Given the description of an element on the screen output the (x, y) to click on. 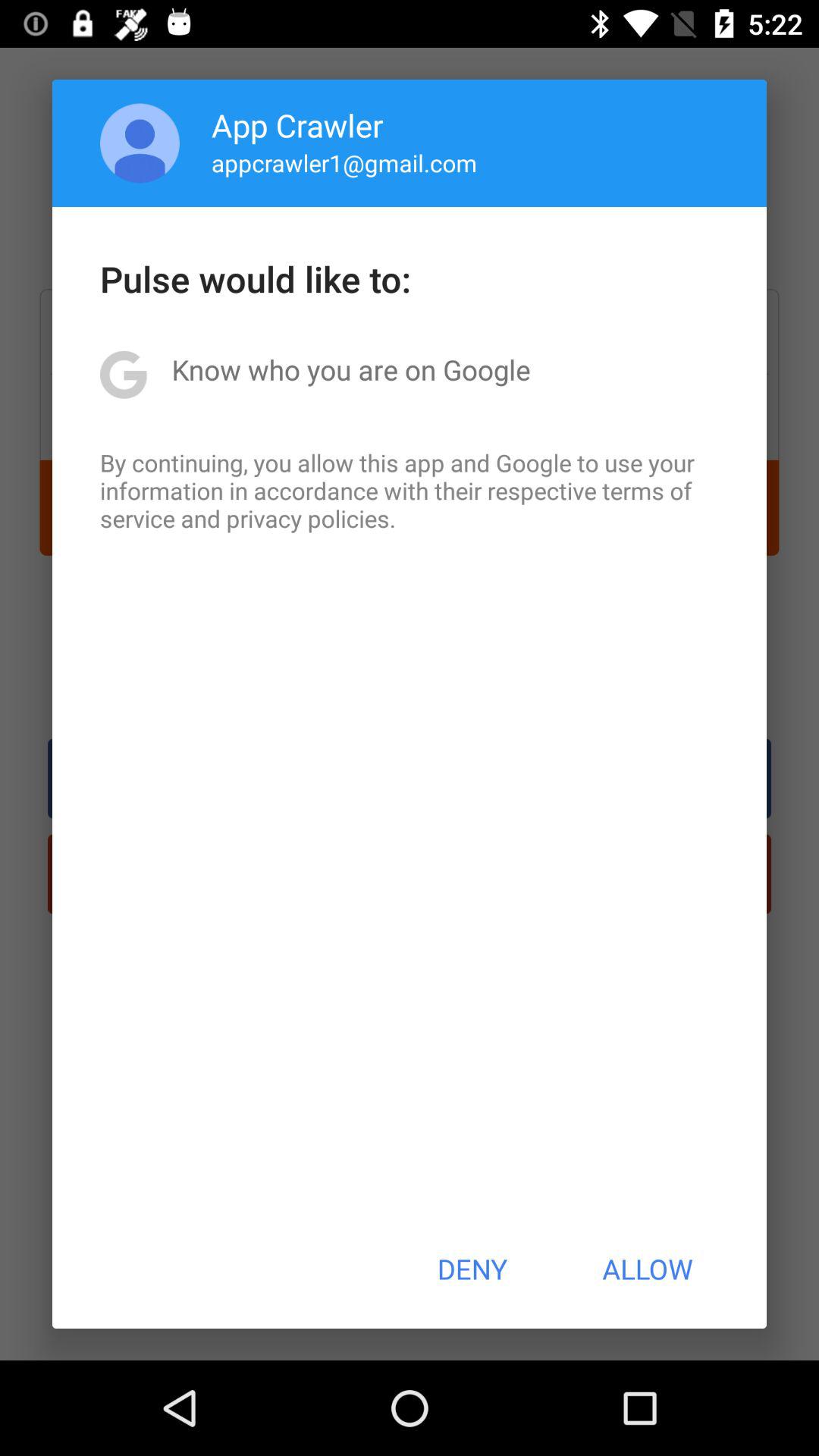
choose icon above the appcrawler1@gmail.com (297, 124)
